Given the description of an element on the screen output the (x, y) to click on. 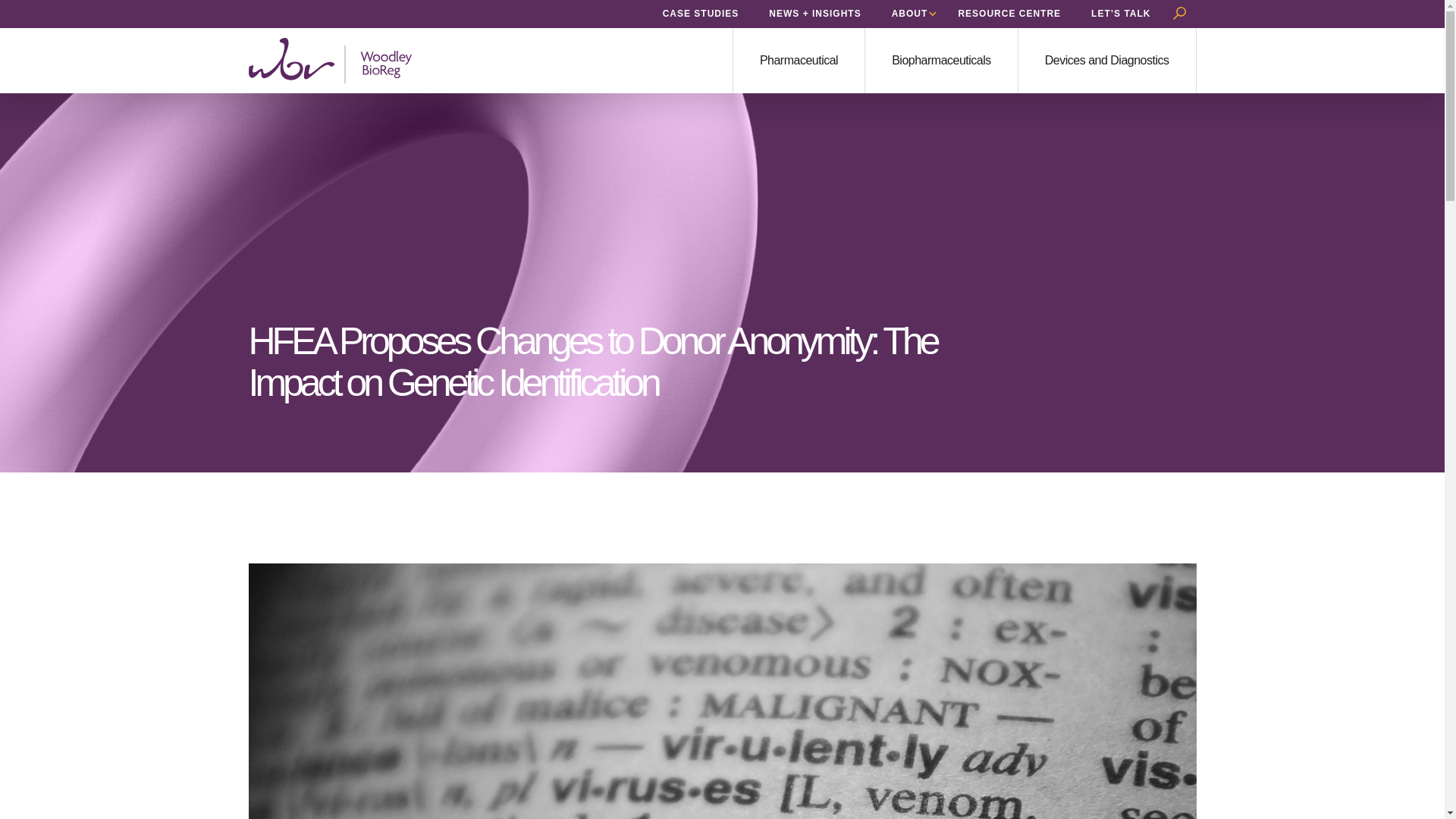
RESOURCE CENTRE (1009, 13)
Pharmaceutical (798, 60)
Devices and Diagnostics (1106, 60)
CASE STUDIES (700, 13)
ABOUT (909, 13)
Biopharmaceuticals (940, 60)
